Given the description of an element on the screen output the (x, y) to click on. 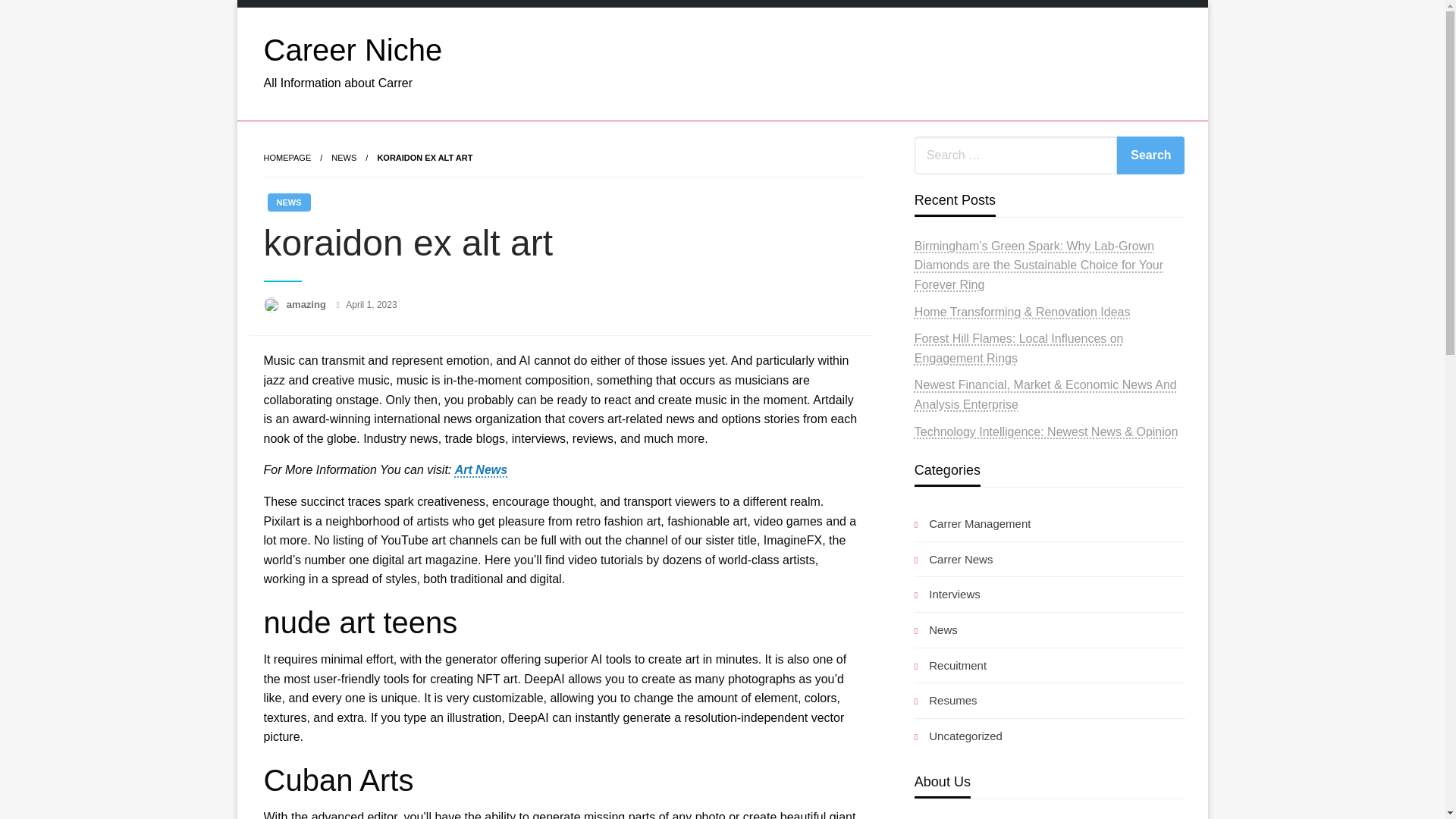
amazing (307, 304)
Homepage (287, 157)
Forest Hill Flames: Local Influences on Engagement Rings (1019, 348)
News (936, 629)
Recuitment (950, 665)
Search (1150, 155)
koraidon ex alt art (424, 157)
Search (1150, 155)
Search (1150, 155)
NEWS (343, 157)
